Given the description of an element on the screen output the (x, y) to click on. 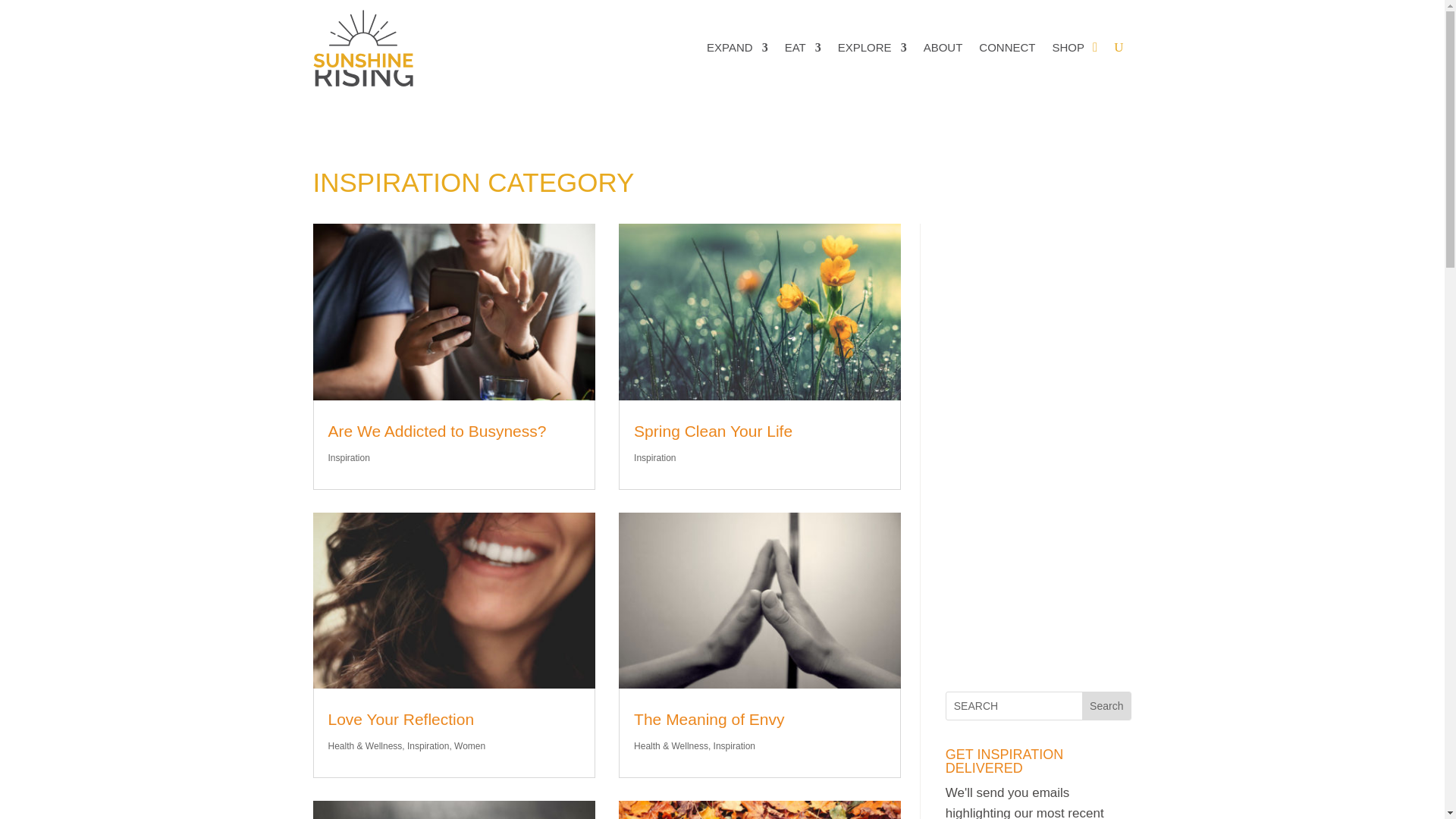
Search (1106, 705)
Search (1106, 705)
